Given the description of an element on the screen output the (x, y) to click on. 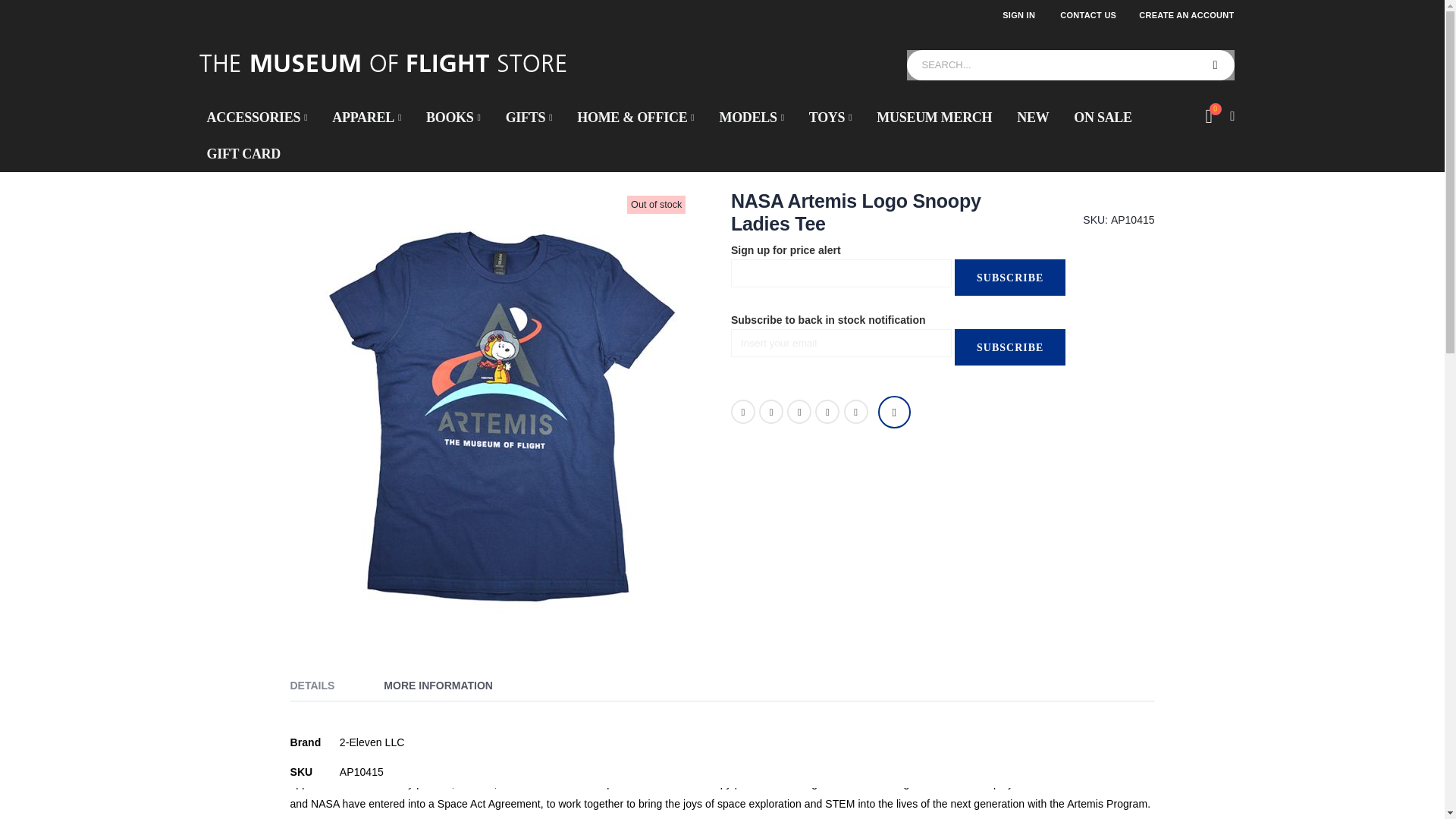
ACCESSORIES (256, 117)
Accessories (256, 117)
CONTACT US (1087, 14)
Search (1216, 116)
APPAREL (1215, 64)
Apparel (366, 117)
CREATE AN ACCOUNT (366, 117)
SIGN IN (1185, 14)
BOOKS (1018, 14)
